Given the description of an element on the screen output the (x, y) to click on. 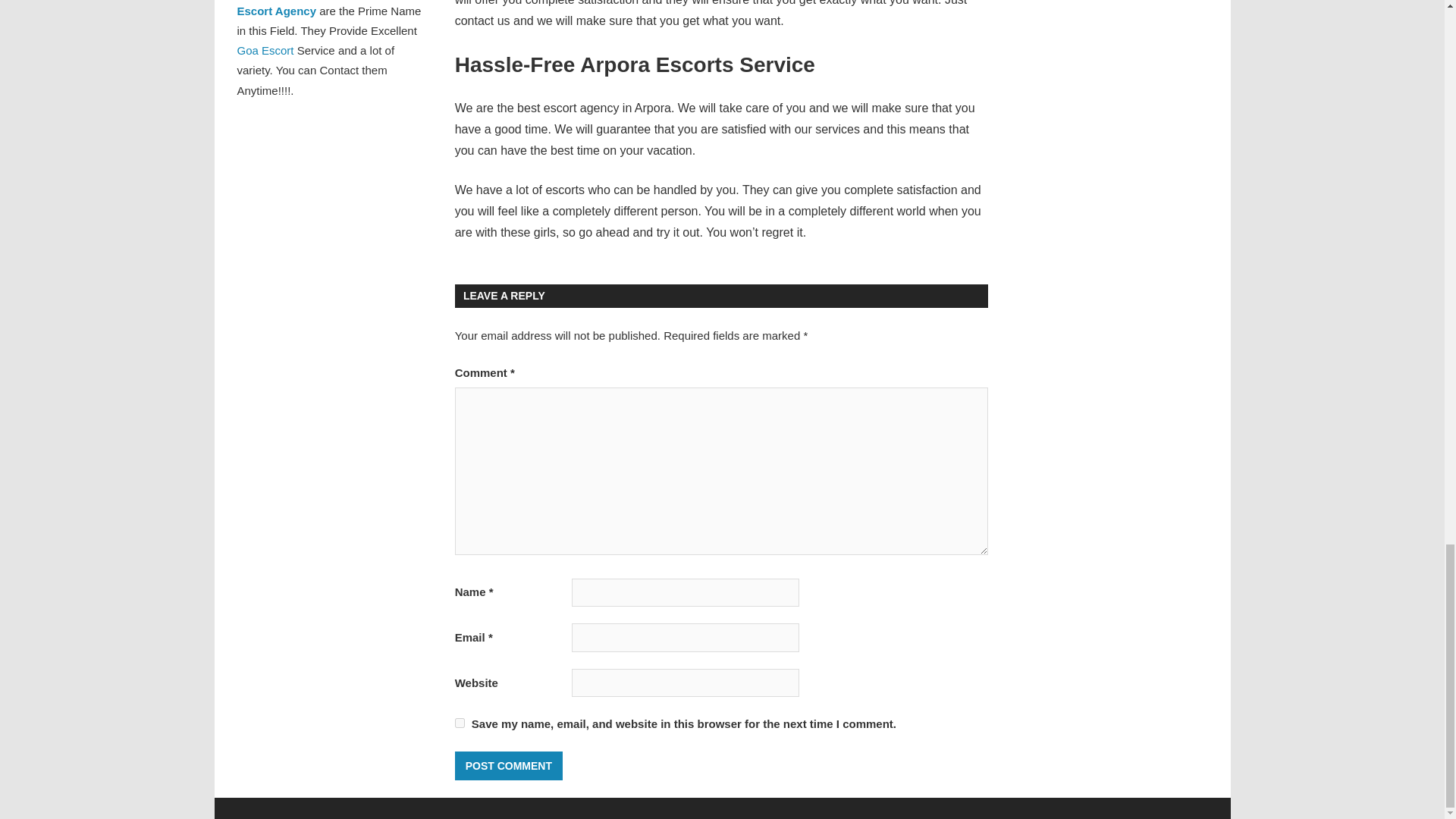
Post Comment (508, 766)
Post Comment (508, 766)
yes (459, 723)
